Given the description of an element on the screen output the (x, y) to click on. 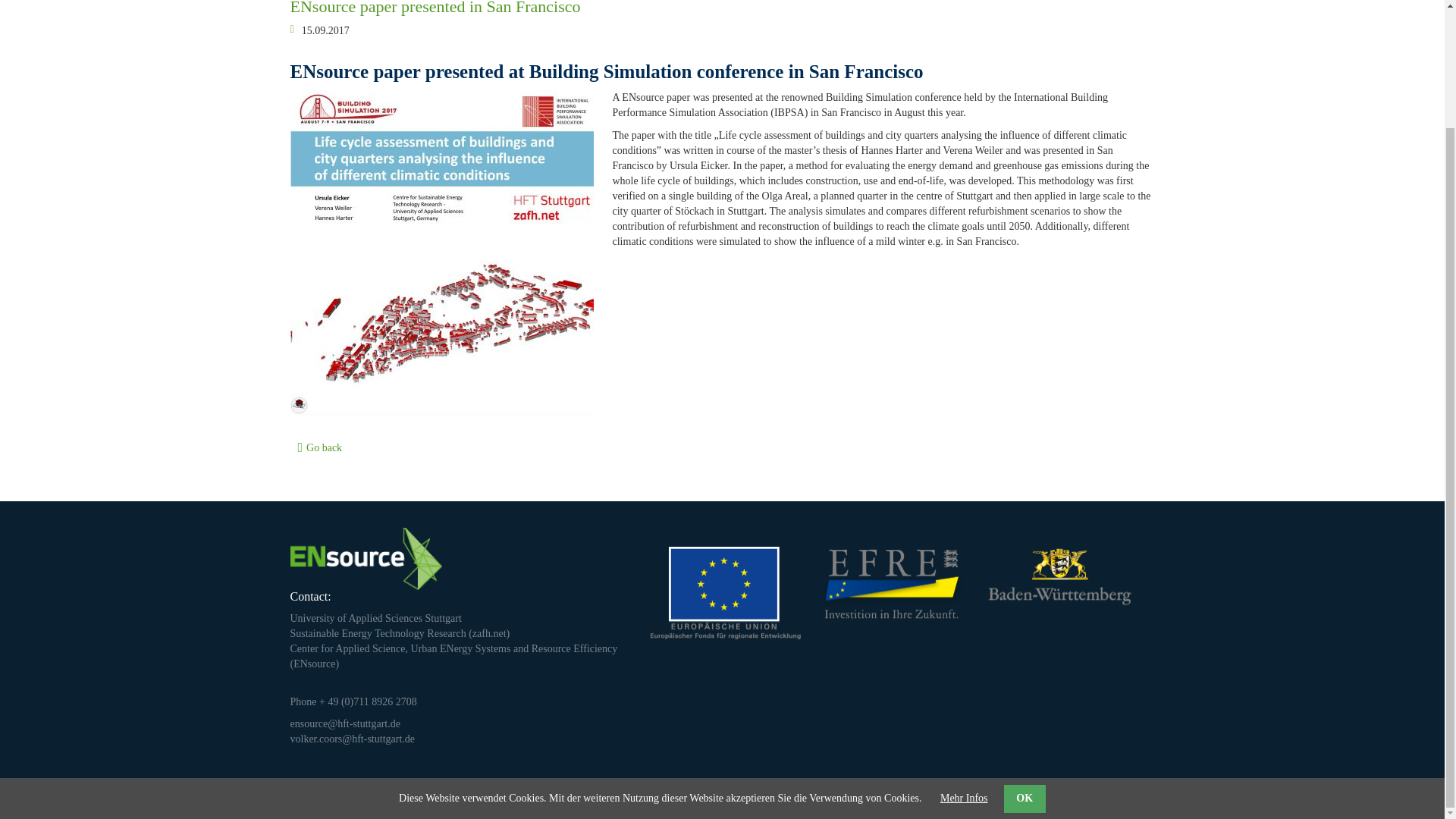
Go back (323, 447)
ENsource (314, 663)
Mehr Infos (964, 656)
Back to Top (1131, 799)
zafh.net (488, 633)
OK (1024, 657)
Mehr Infos (964, 656)
Go back (323, 447)
